Given the description of an element on the screen output the (x, y) to click on. 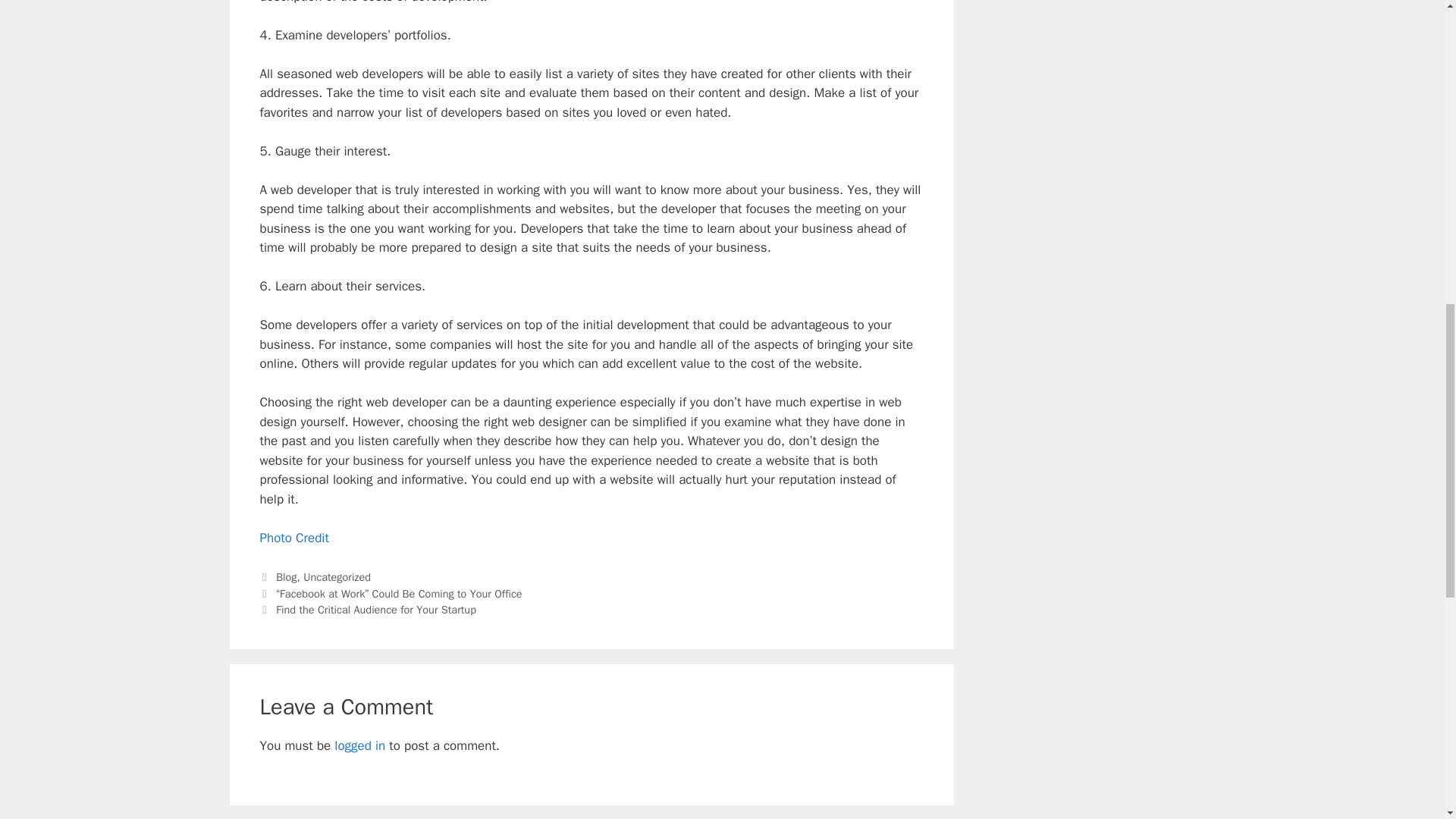
logged in (359, 745)
Find the Critical Audience for Your Startup (376, 609)
Photo Credit (294, 537)
Blog (286, 576)
Uncategorized (336, 576)
